Given the description of an element on the screen output the (x, y) to click on. 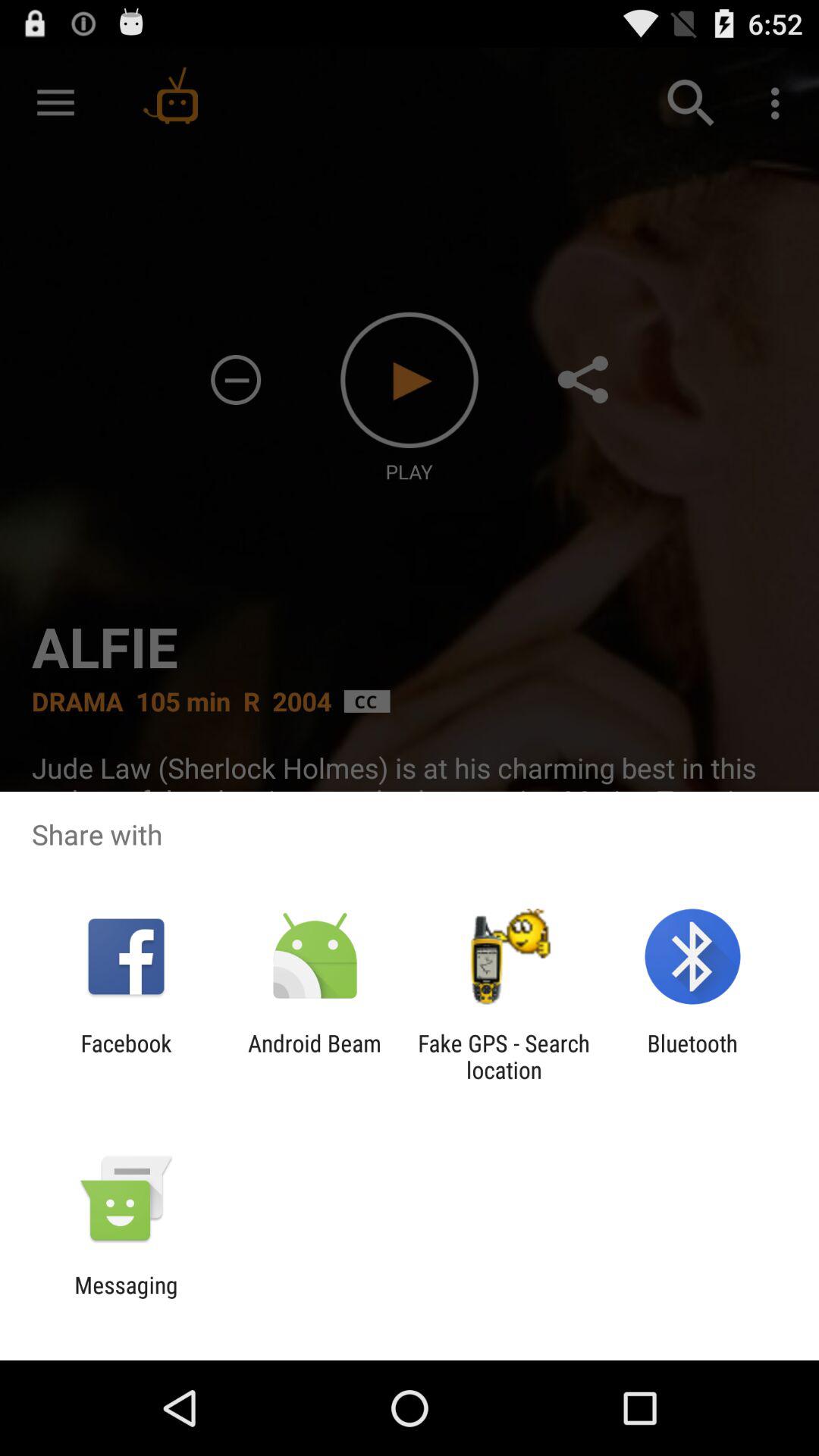
launch the icon to the left of fake gps search item (314, 1056)
